Given the description of an element on the screen output the (x, y) to click on. 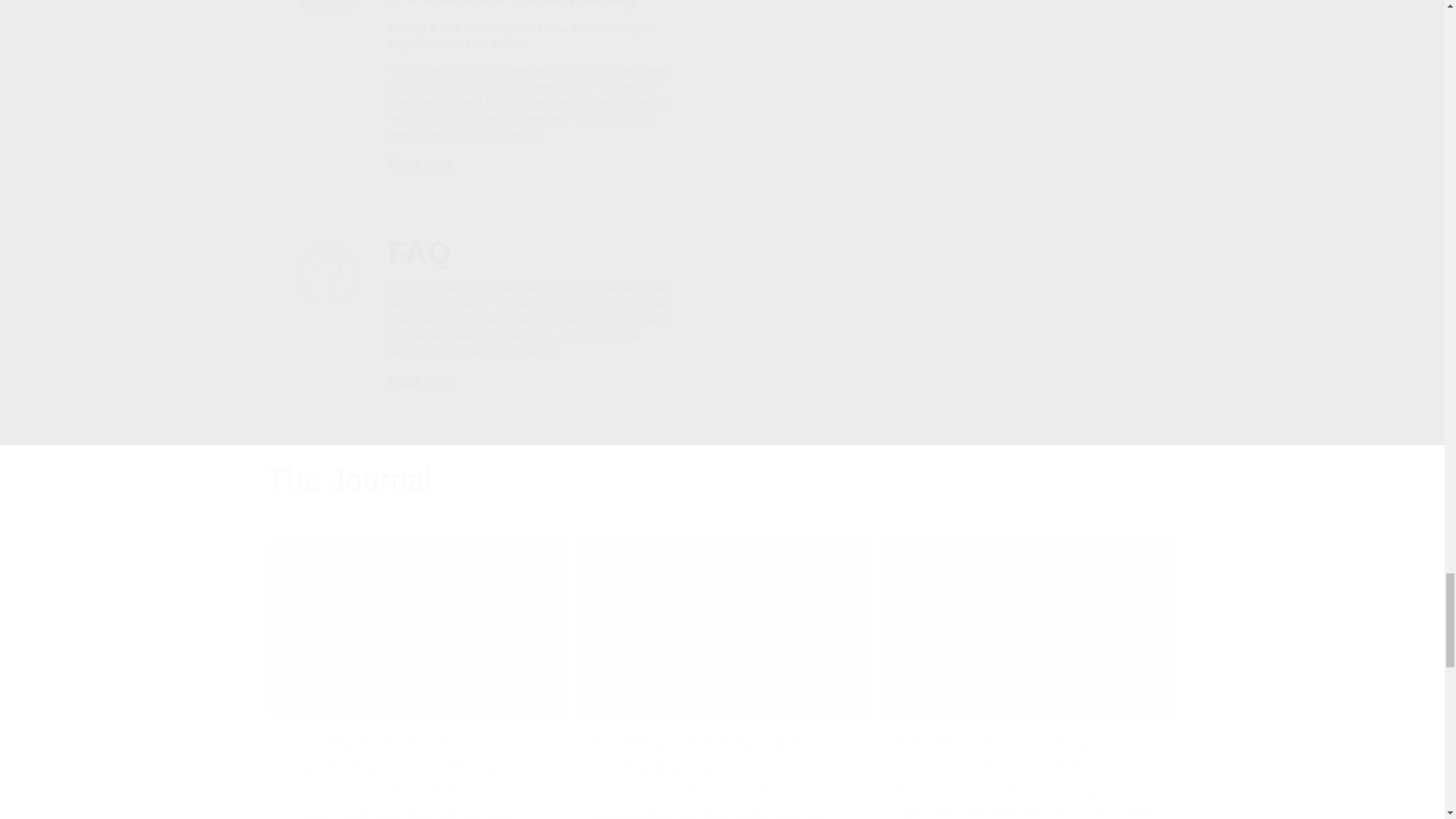
The Journal (349, 479)
